Given the description of an element on the screen output the (x, y) to click on. 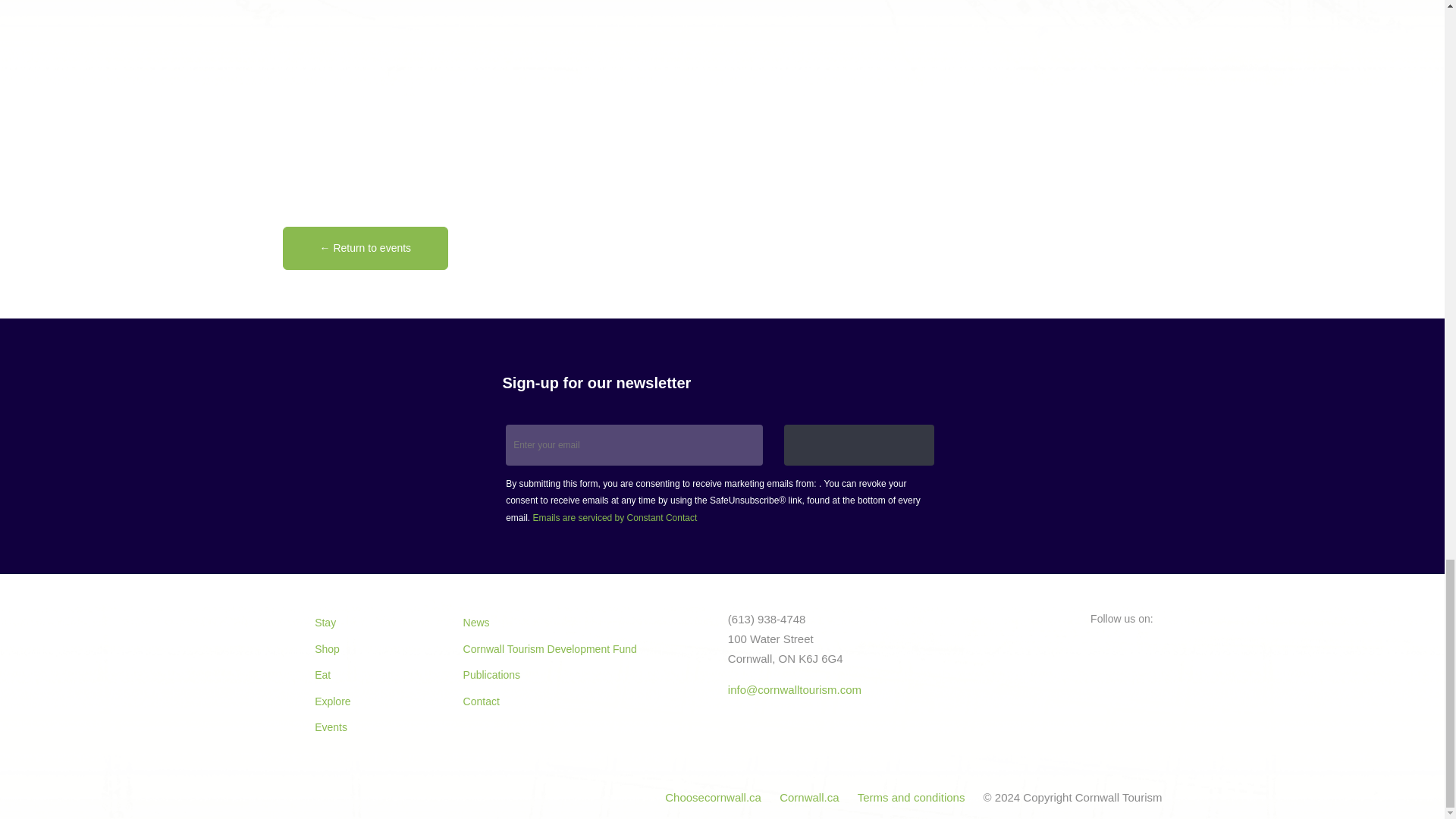
Sign up (859, 445)
